Given the description of an element on the screen output the (x, y) to click on. 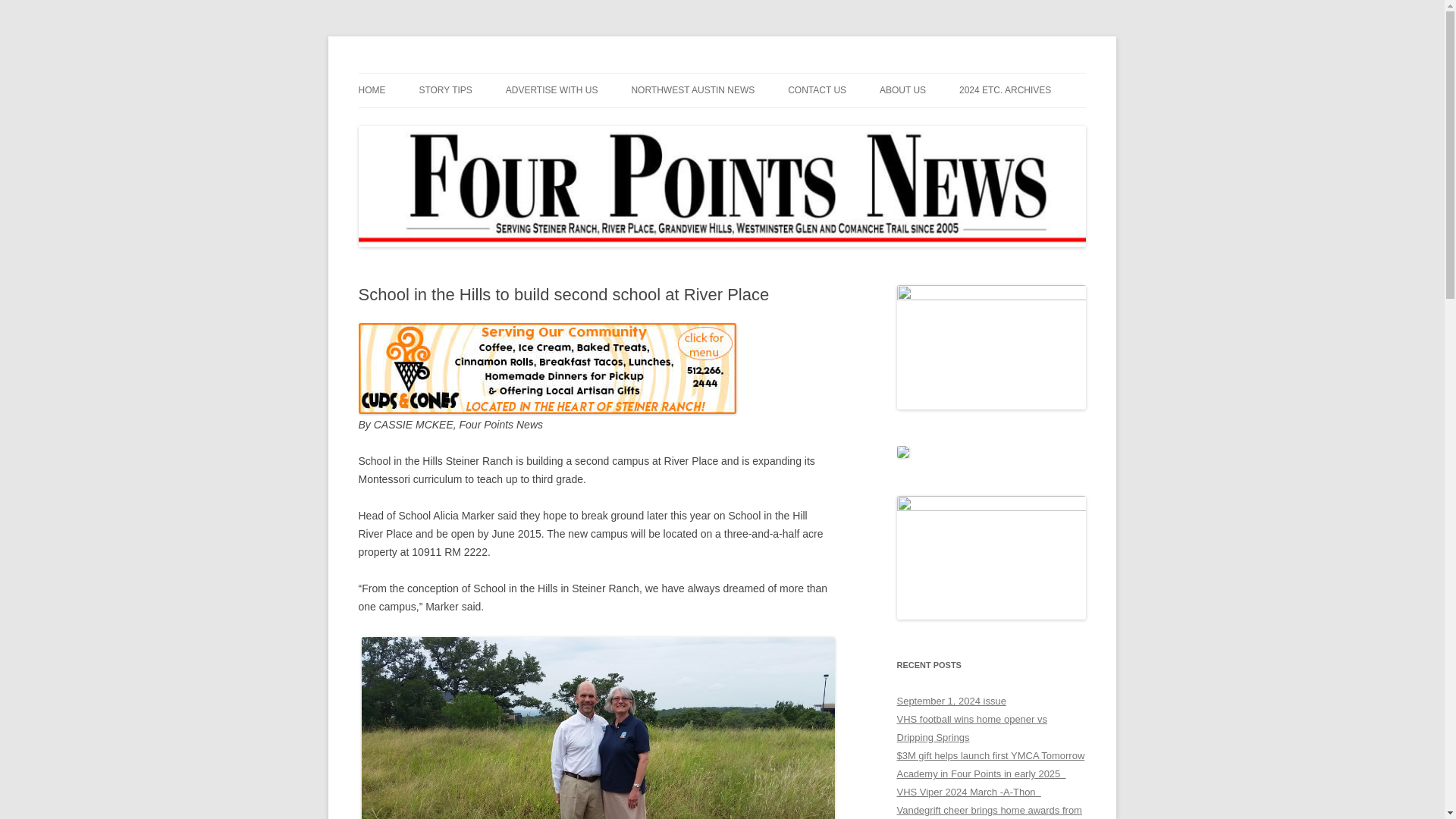
ABOUT US (902, 90)
STORY TIPS (445, 90)
VHS Viper 2024 March -A-Thon   (968, 791)
September 1, 2024 issue (951, 700)
2024 ETC. ARCHIVES (1005, 90)
NORTHWEST AUSTIN NEWS (692, 90)
VHS football wins home opener vs Dripping Springs (971, 727)
Vandegrift cheer brings home awards from NCA (988, 811)
CONTACT US (816, 90)
ADVERTISE WITH US (551, 90)
